Given the description of an element on the screen output the (x, y) to click on. 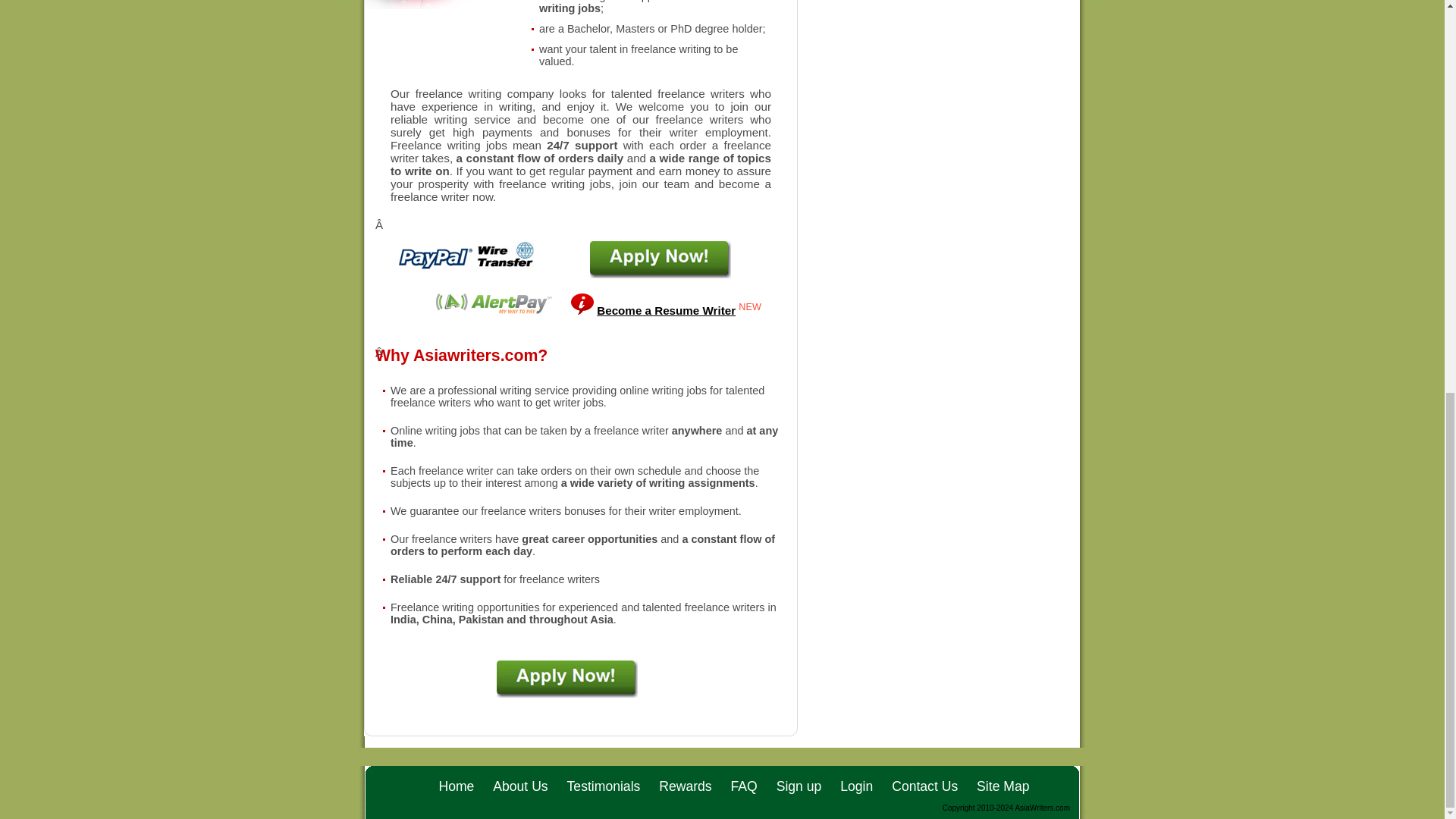
Contact Us (924, 785)
About Us (520, 785)
Site Map (1002, 785)
Home (456, 785)
Testimonials (603, 785)
Login (856, 785)
AsiaWriters.com (1042, 807)
Rewards (685, 785)
Become a Resume Writer NEW (678, 309)
Sign up (799, 785)
